Given the description of an element on the screen output the (x, y) to click on. 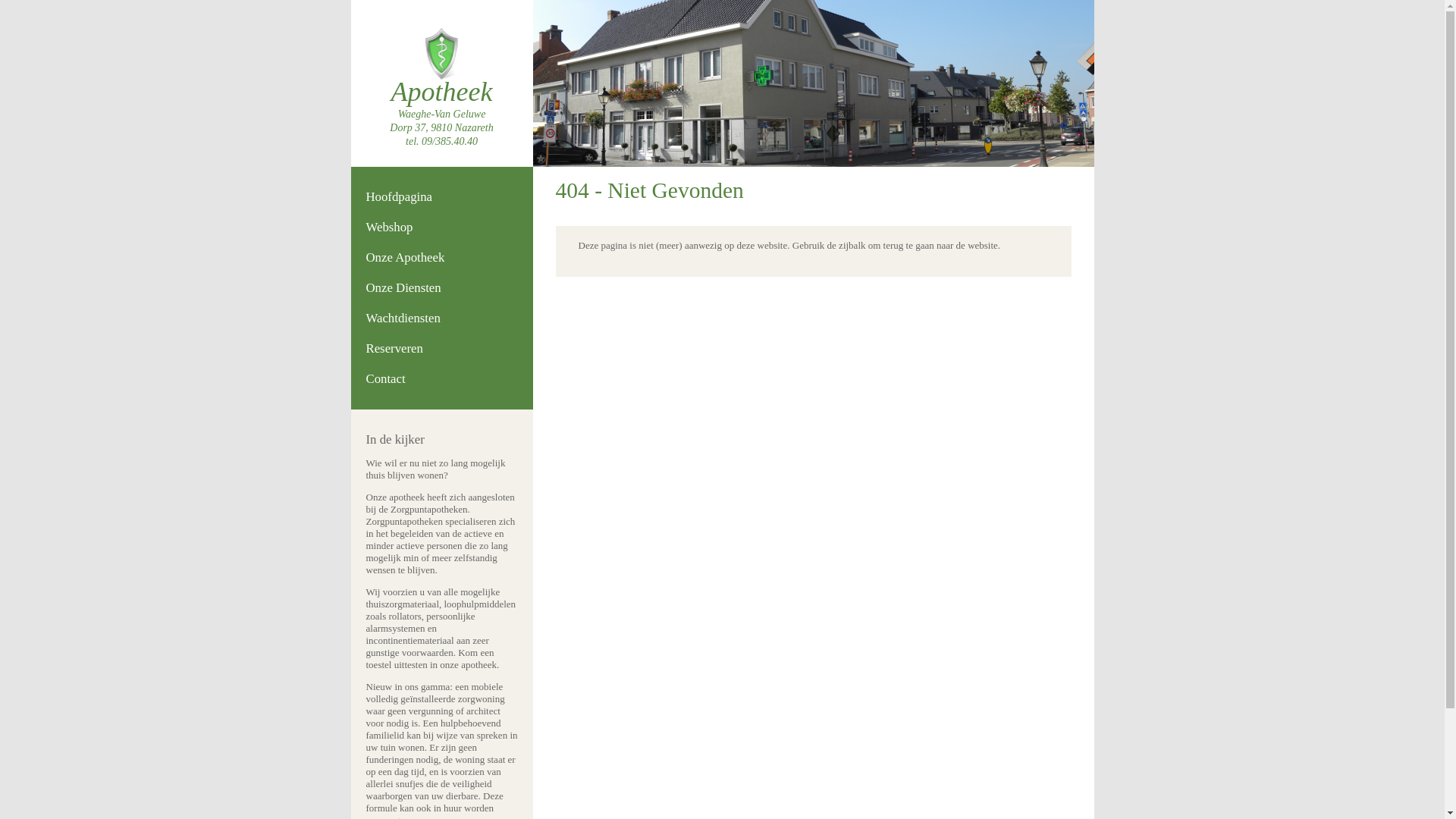
Onze Diensten Element type: text (402, 287)
Apotheek Element type: text (441, 91)
Contact Element type: text (384, 378)
Webshop Element type: text (388, 226)
Reserveren Element type: text (393, 348)
Hoofdpagina Element type: text (398, 196)
Wachtdiensten Element type: text (402, 317)
Onze Apotheek Element type: text (404, 257)
Waeghe-Van Geluwe Element type: text (442, 113)
